Given the description of an element on the screen output the (x, y) to click on. 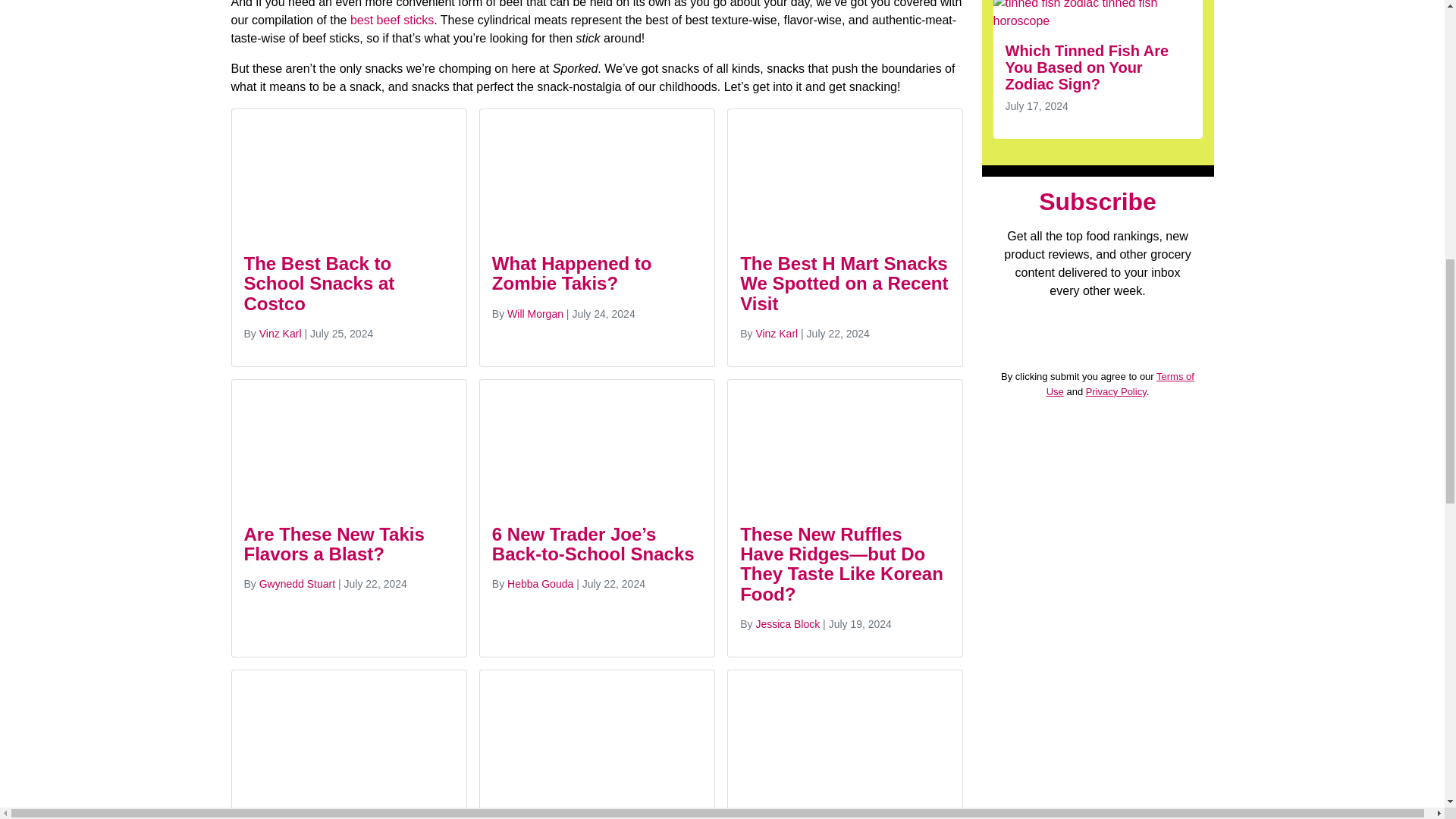
Posts by Jessica Block (787, 623)
Posts by Will Morgan (534, 313)
Posts by Vinz Karl (280, 333)
Posts by Gwynedd Stuart (296, 583)
Posts by Hebba Gouda (539, 583)
Posts by Vinz Karl (776, 333)
